Given the description of an element on the screen output the (x, y) to click on. 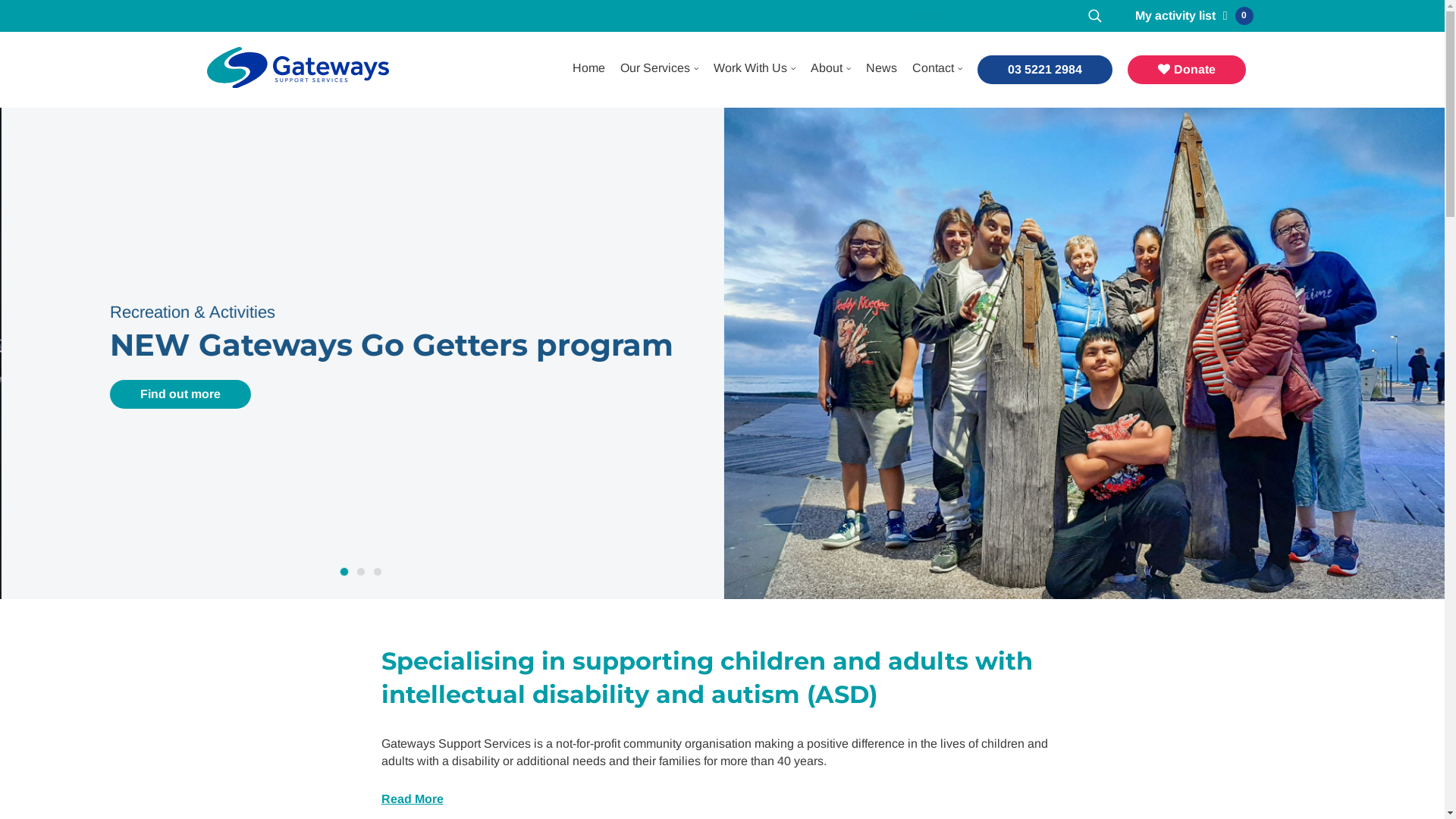
Read More Element type: text (411, 799)
2 Element type: text (360, 571)
3 Element type: text (377, 571)
Donate Element type: text (1185, 69)
03 5221 2984 Element type: text (1043, 69)
Find out more Element type: text (178, 412)
Home Element type: text (587, 67)
Contact Element type: text (932, 67)
About Element type: text (825, 67)
Search for: Element type: hover (992, 15)
My activity list Element type: text (1175, 15)
News Element type: text (881, 67)
1 Element type: text (343, 571)
0 Element type: text (1234, 15)
Our Services Element type: text (655, 67)
Work With Us Element type: text (749, 67)
